Given the description of an element on the screen output the (x, y) to click on. 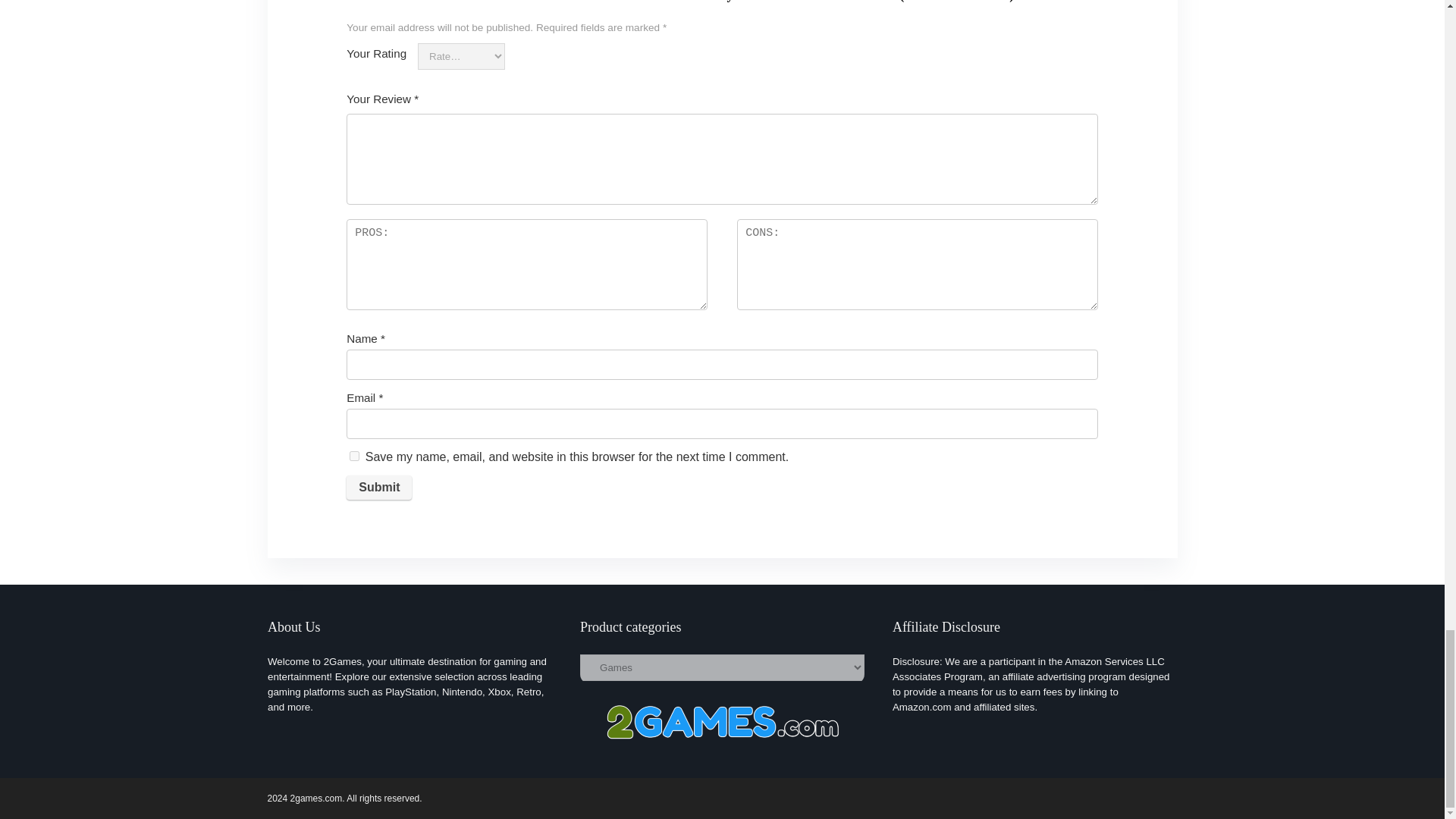
Submit (379, 487)
yes (354, 456)
